Given the description of an element on the screen output the (x, y) to click on. 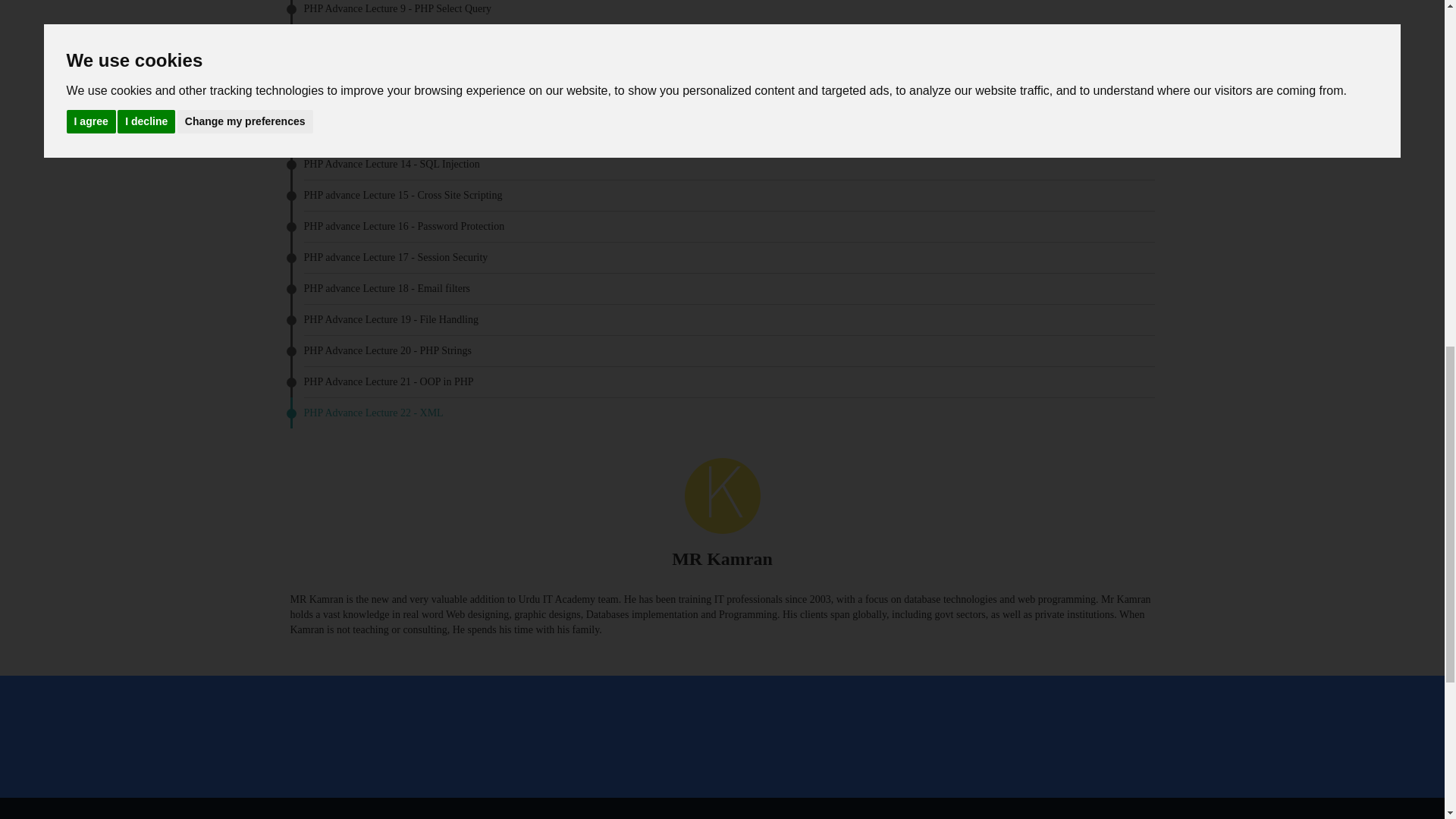
Advertisement (721, 736)
